Given the description of an element on the screen output the (x, y) to click on. 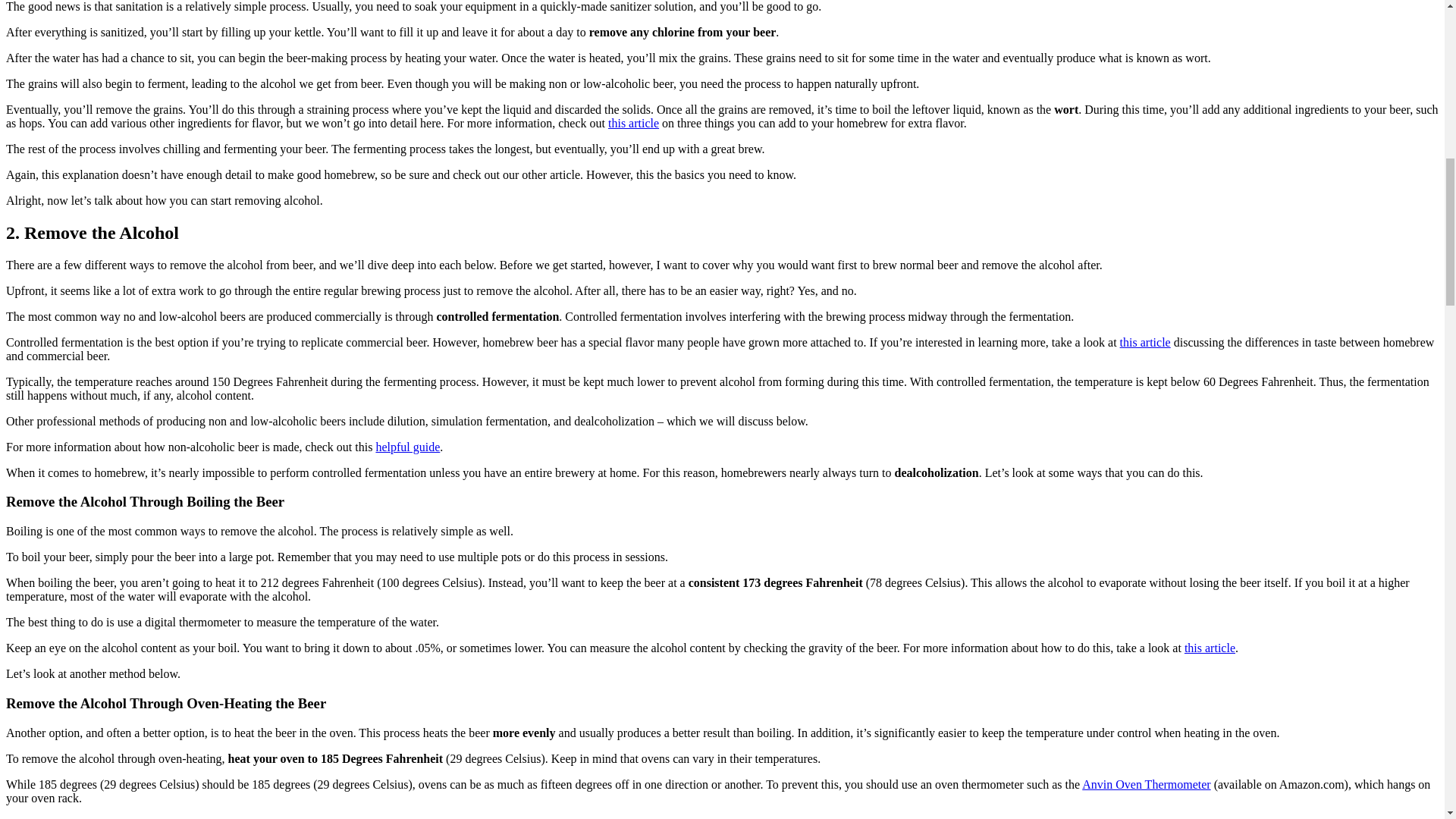
Anvin Oven Thermometer (1145, 784)
this article (1209, 647)
helpful guide (407, 446)
this article (633, 123)
this article (1144, 341)
